Given the description of an element on the screen output the (x, y) to click on. 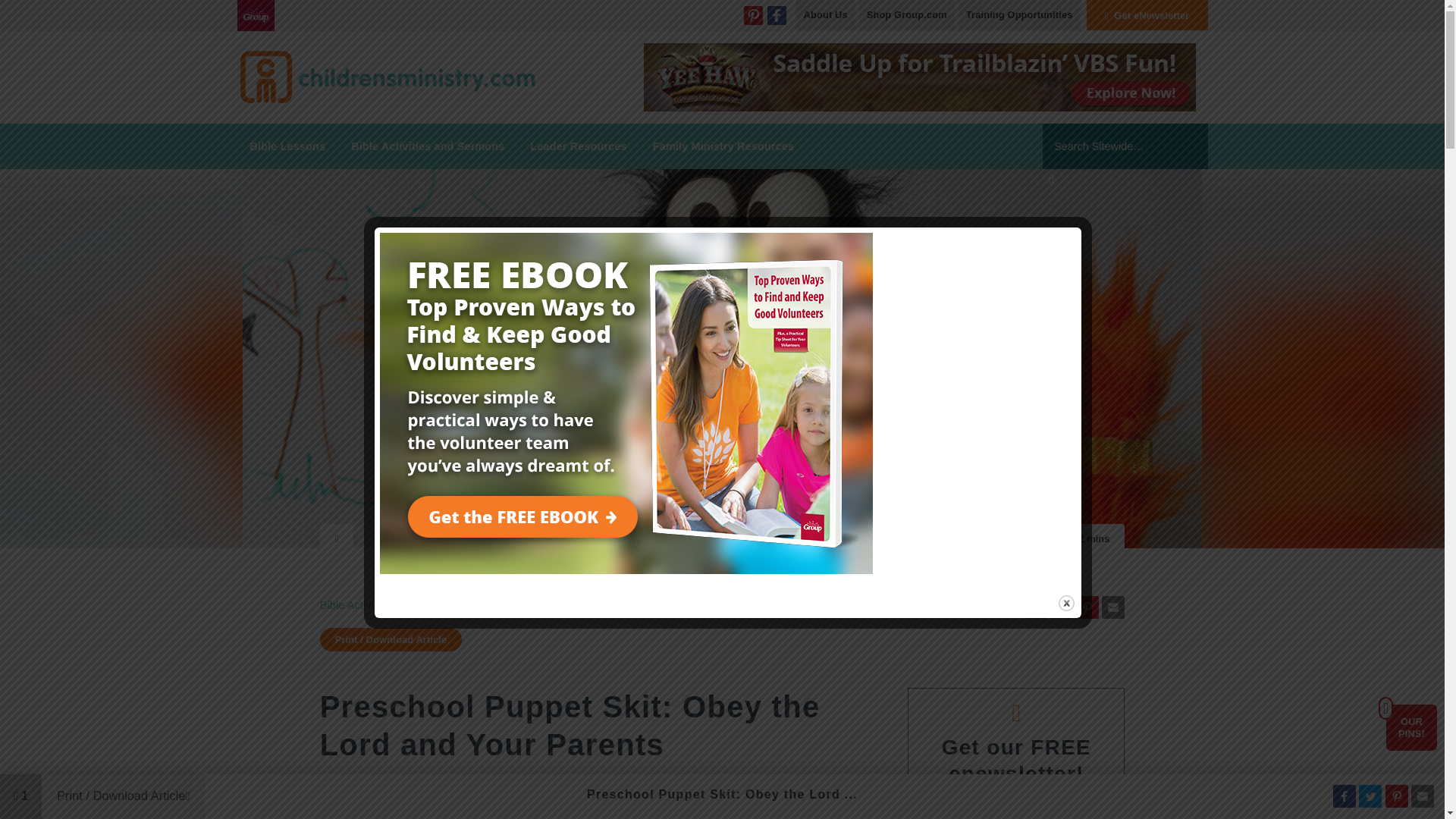
Facebook (776, 15)
Children's Ministry (387, 76)
About Us (826, 15)
Shop Group.com (907, 15)
Pinterest (753, 15)
Bible Lessons (286, 145)
Facebook (776, 15)
Follow on Pinterest (753, 15)
Group.com (254, 15)
View Comments (21, 796)
Pinterest (753, 15)
Family Ministry Resources (723, 145)
Leader Resources (577, 145)
Follow on Facebook (776, 15)
Bible Activities and Sermons (426, 145)
